Given the description of an element on the screen output the (x, y) to click on. 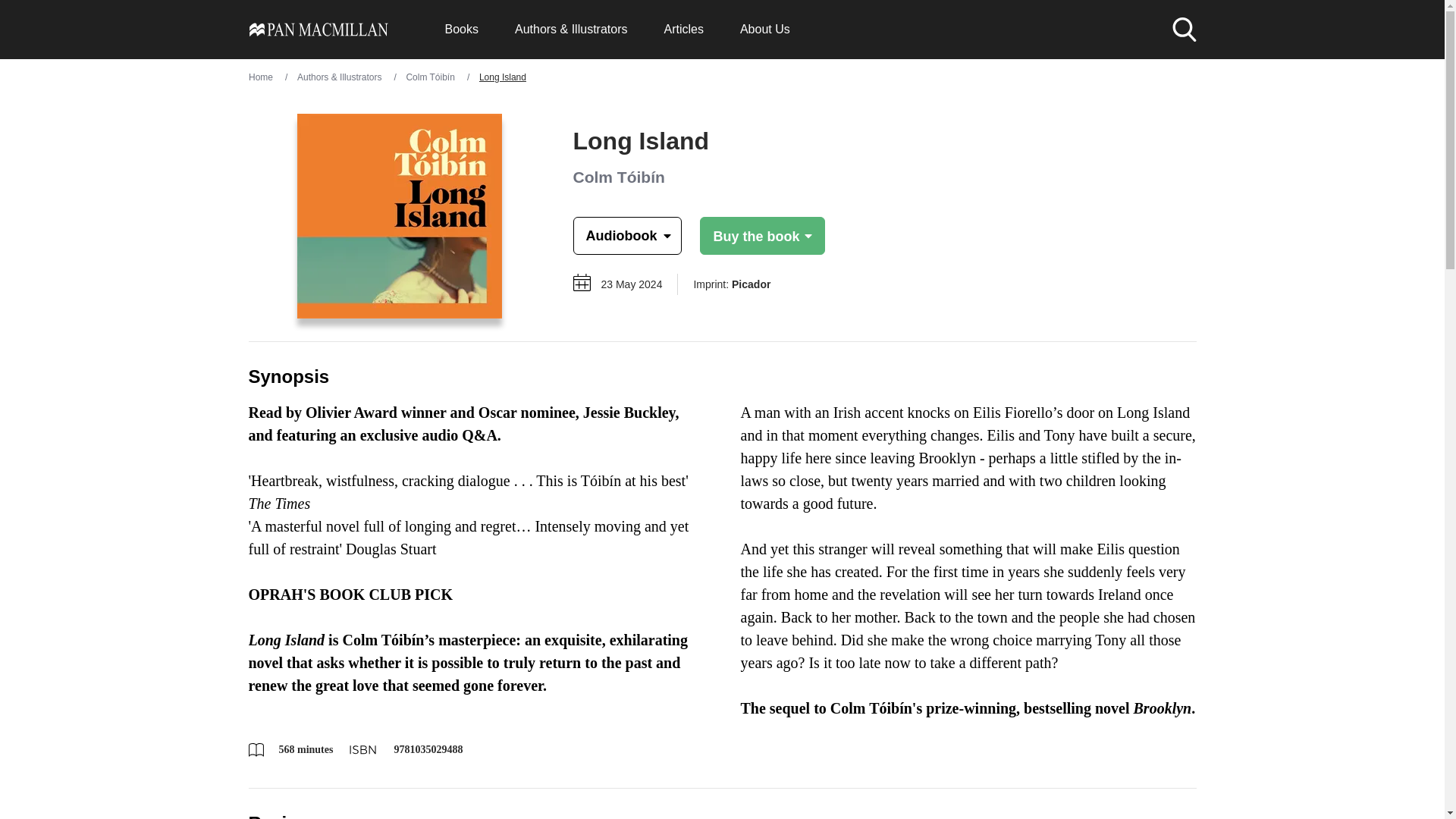
Books (460, 29)
